Given the description of an element on the screen output the (x, y) to click on. 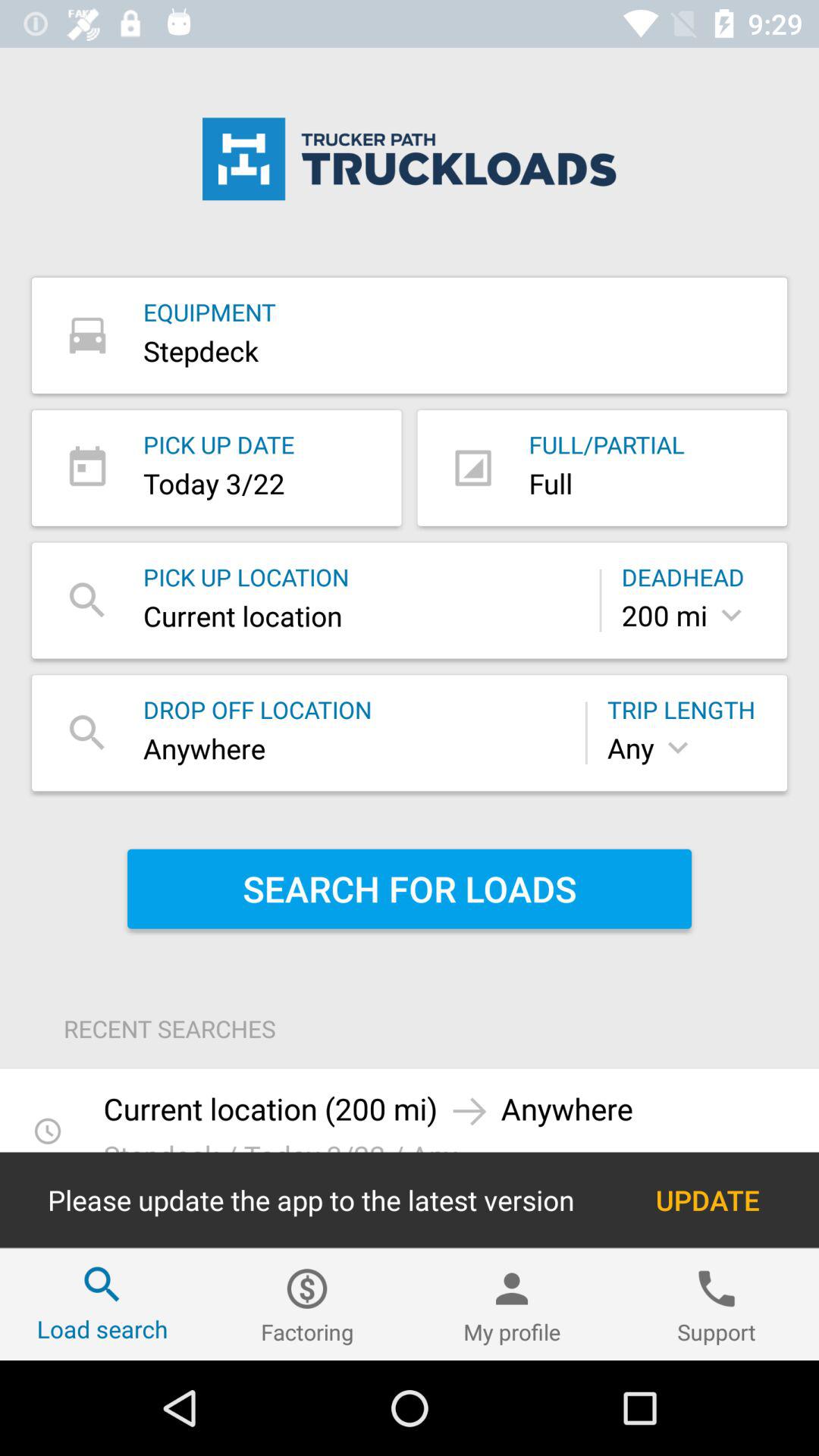
turn on the item below the any (409, 888)
